Given the description of an element on the screen output the (x, y) to click on. 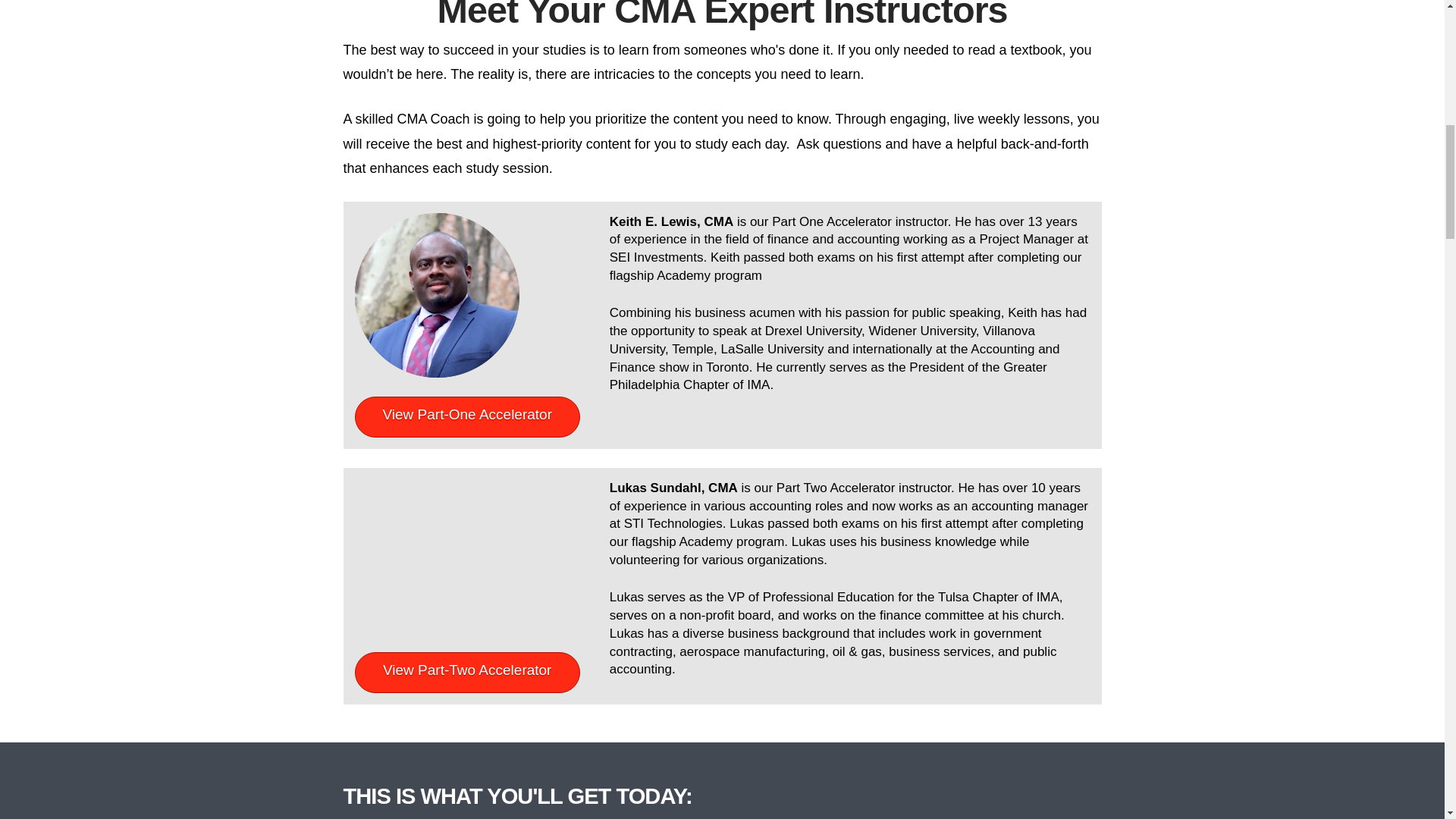
View Part-Two Accelerator (467, 671)
View Part-One Accelerator (467, 416)
